Given the description of an element on the screen output the (x, y) to click on. 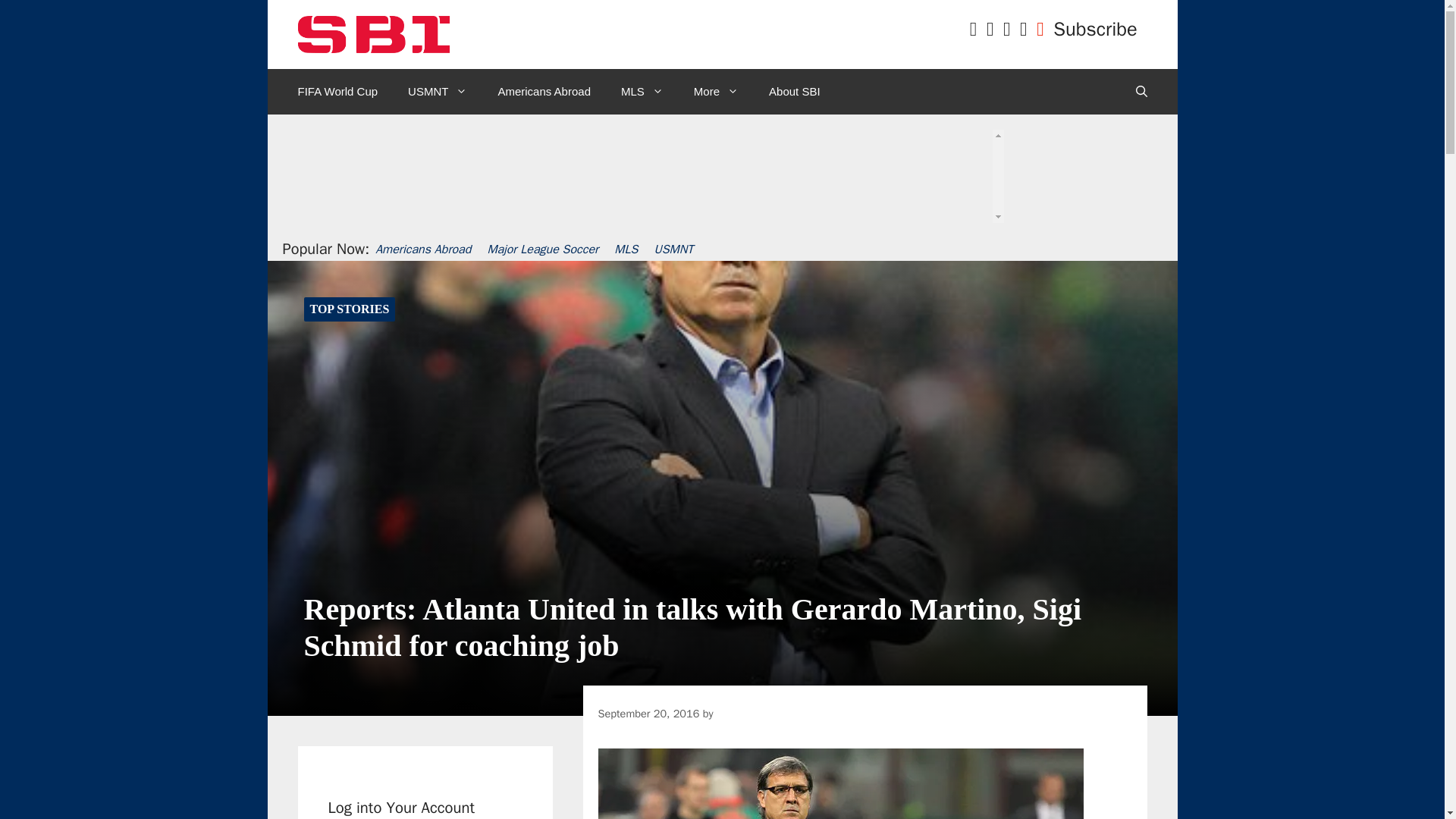
Subscribe (1094, 28)
FIFA World Cup (337, 91)
MLS (641, 91)
USMNT (437, 91)
Americans Abroad (543, 91)
